Given the description of an element on the screen output the (x, y) to click on. 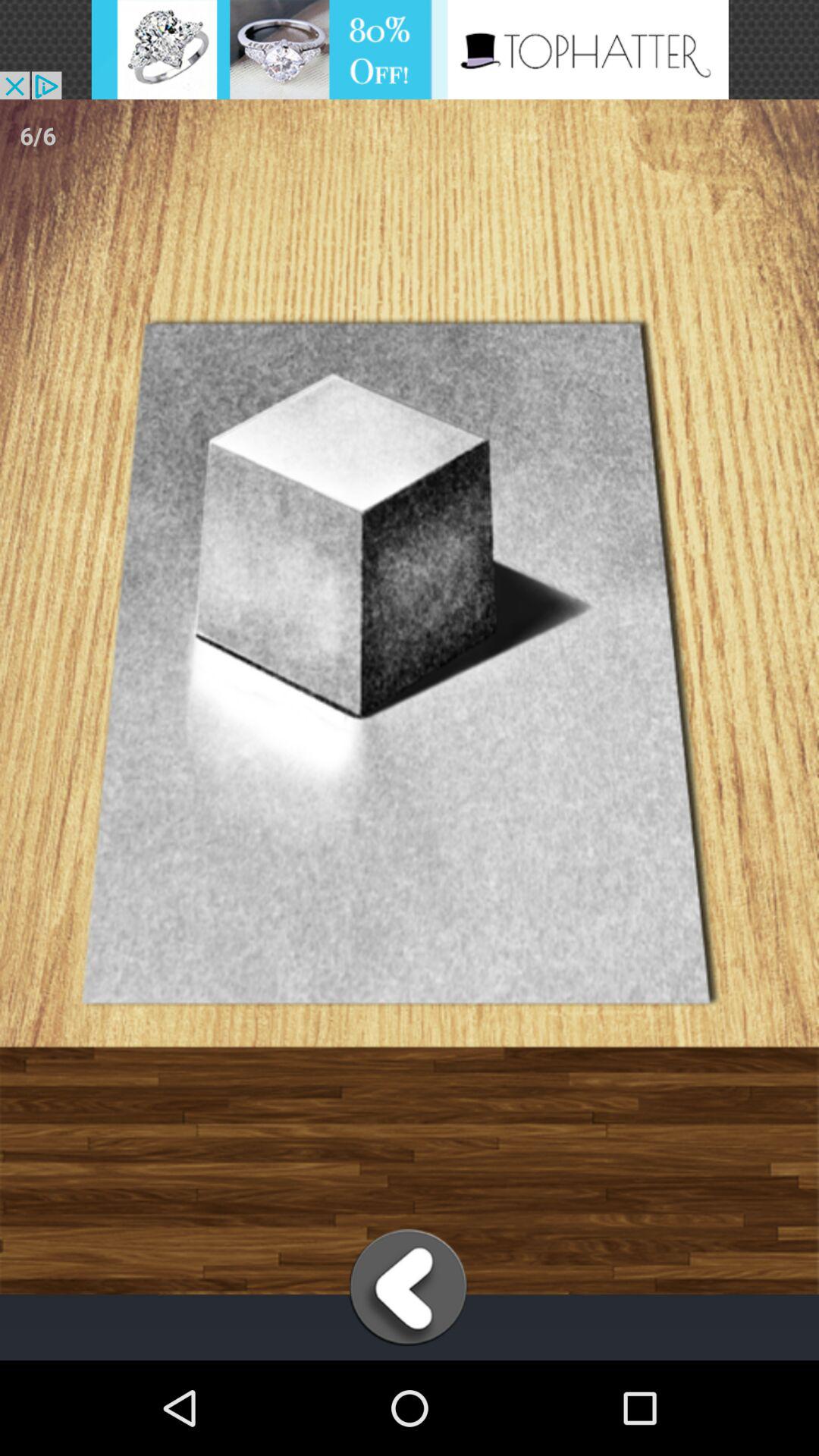
back screen (409, 1288)
